Given the description of an element on the screen output the (x, y) to click on. 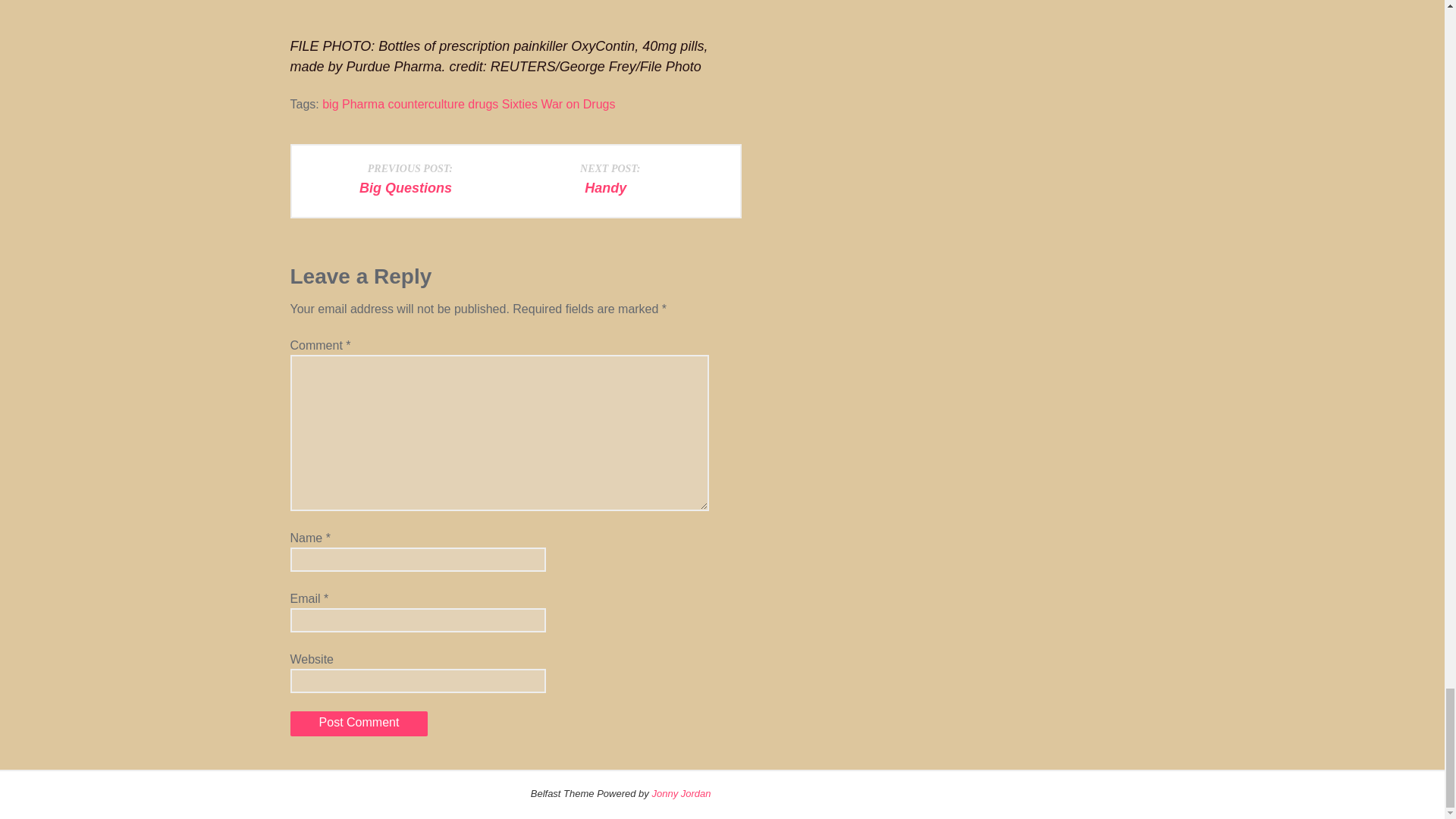
counterculture (425, 103)
Post Comment (358, 723)
War on Drugs (577, 103)
big Pharma (352, 103)
Post Comment (358, 723)
Sixties (409, 177)
drugs (609, 177)
